Given the description of an element on the screen output the (x, y) to click on. 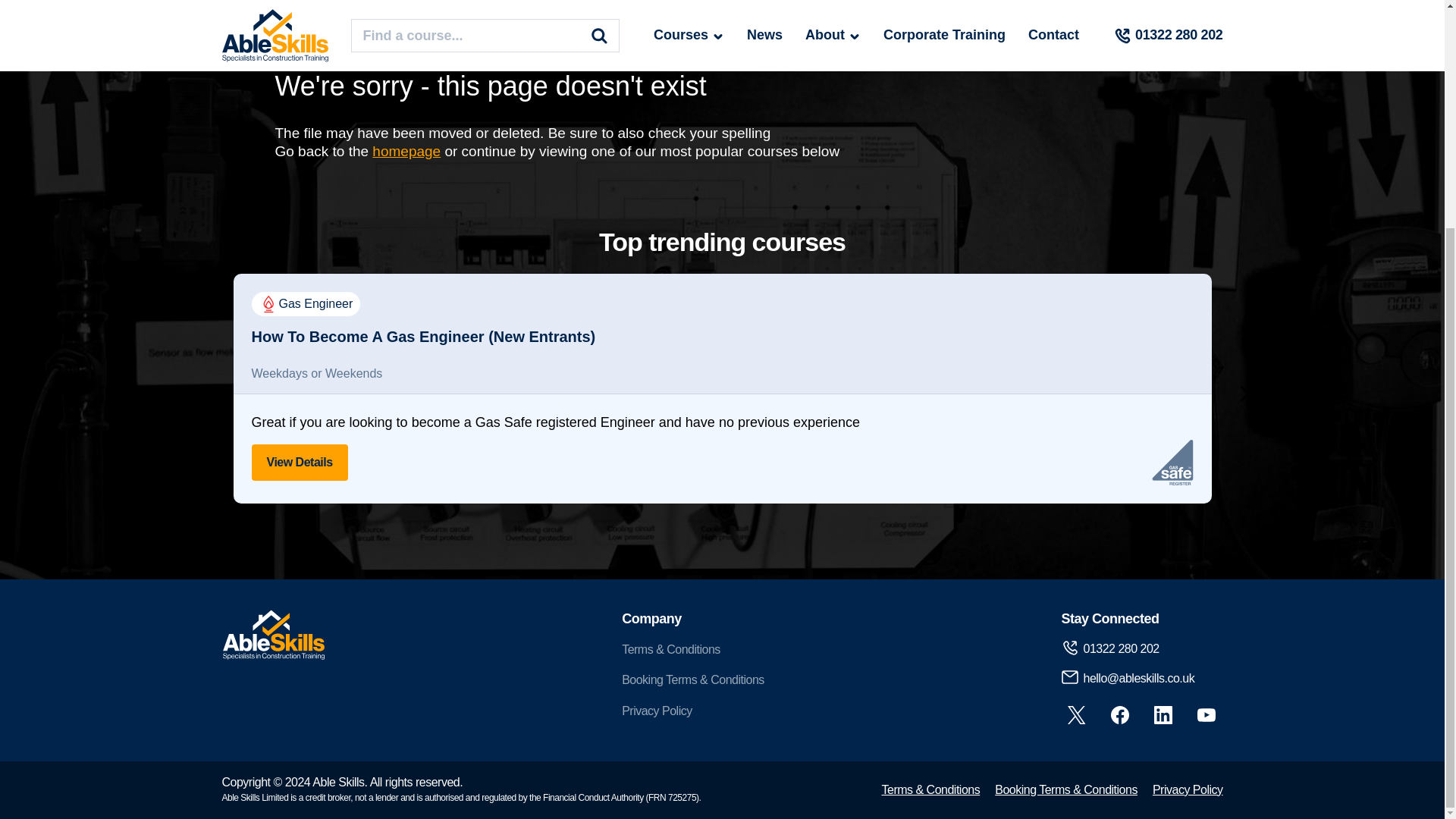
Gas Safe (1171, 462)
